Given the description of an element on the screen output the (x, y) to click on. 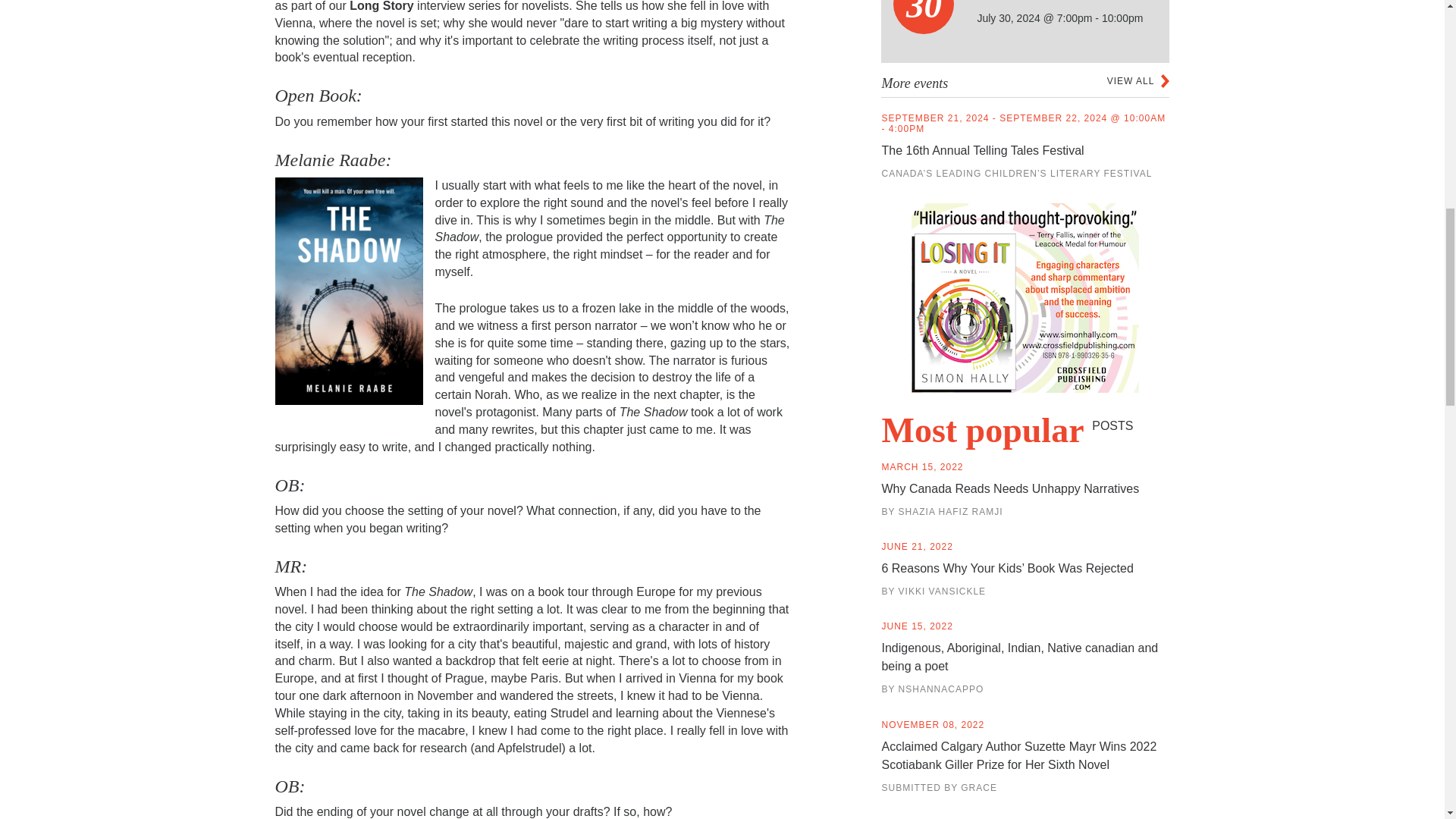
VIEW ALL (1138, 80)
